Given the description of an element on the screen output the (x, y) to click on. 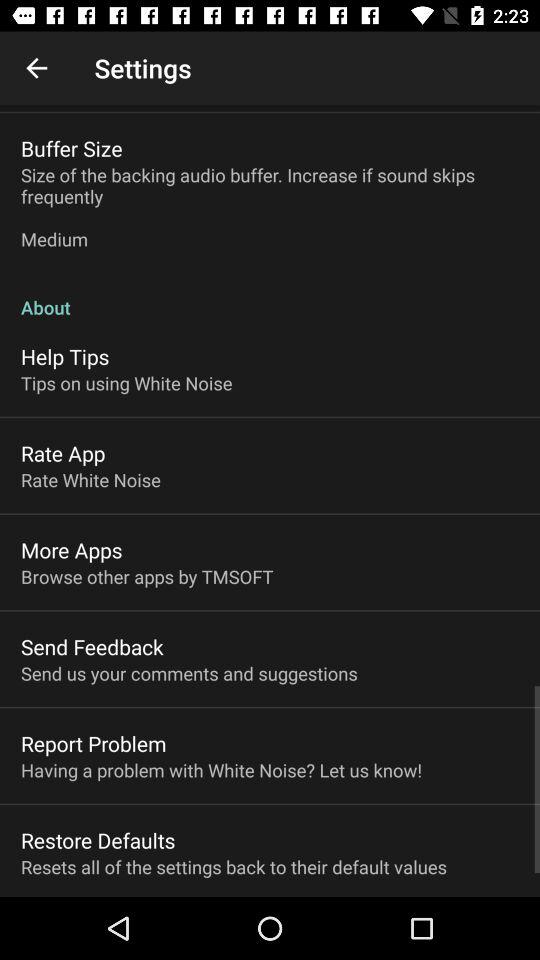
swipe to help tips item (65, 356)
